Given the description of an element on the screen output the (x, y) to click on. 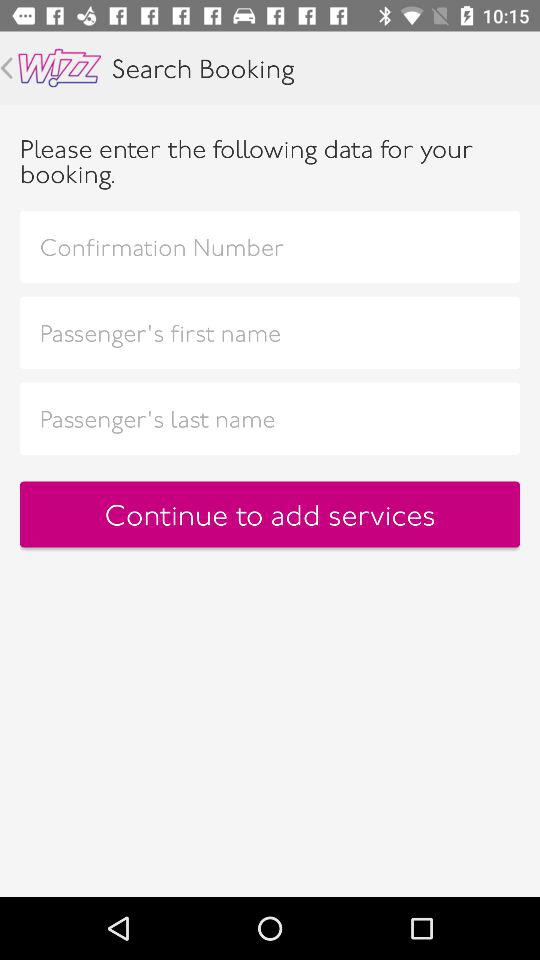
insert passenger 's first name (269, 332)
